Given the description of an element on the screen output the (x, y) to click on. 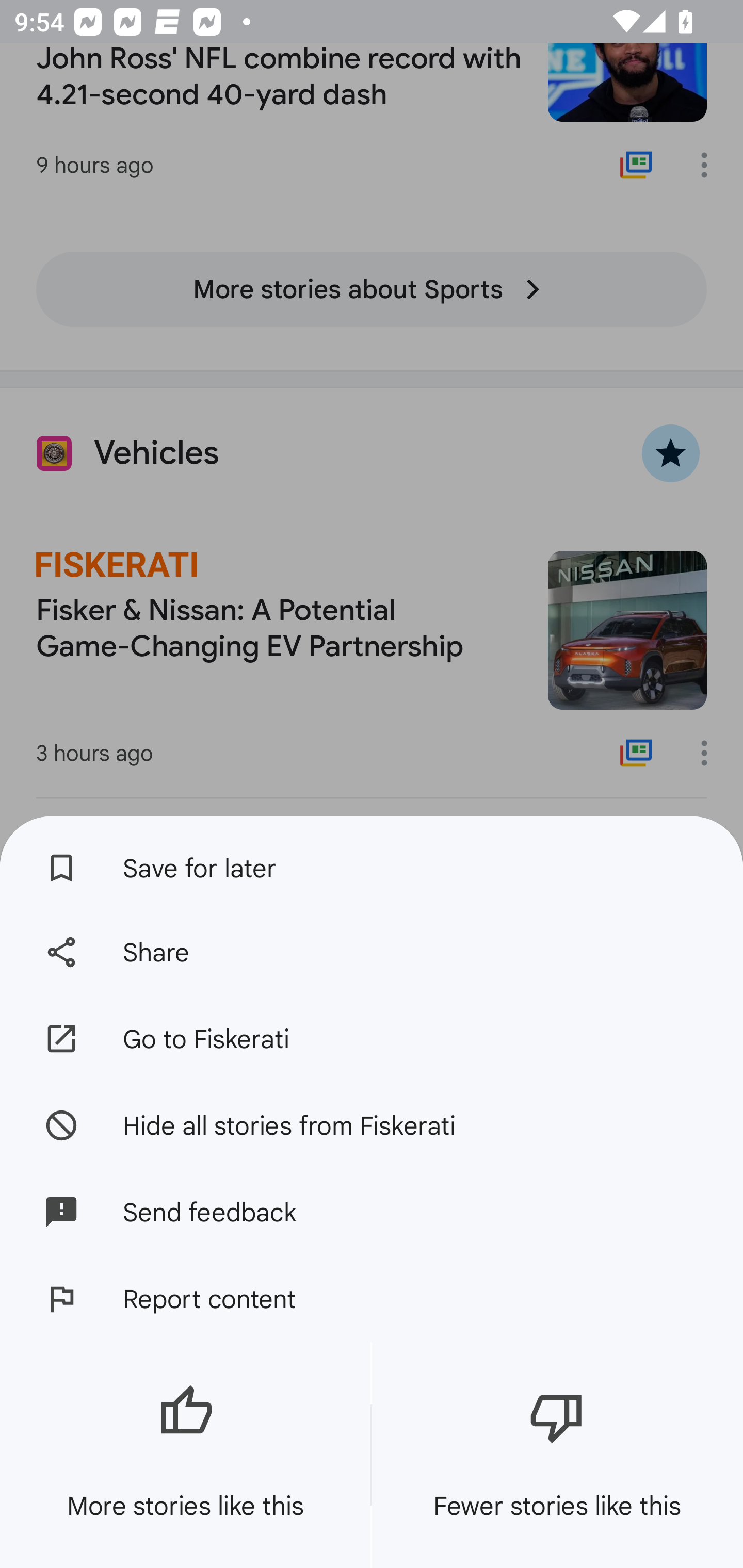
Save for later (371, 862)
Share (371, 952)
Go to Fiskerati (371, 1038)
Hide all stories from Fiskerati (371, 1124)
Send feedback (371, 1211)
Report content (371, 1298)
More stories like this (185, 1455)
Fewer stories like this (557, 1455)
